Given the description of an element on the screen output the (x, y) to click on. 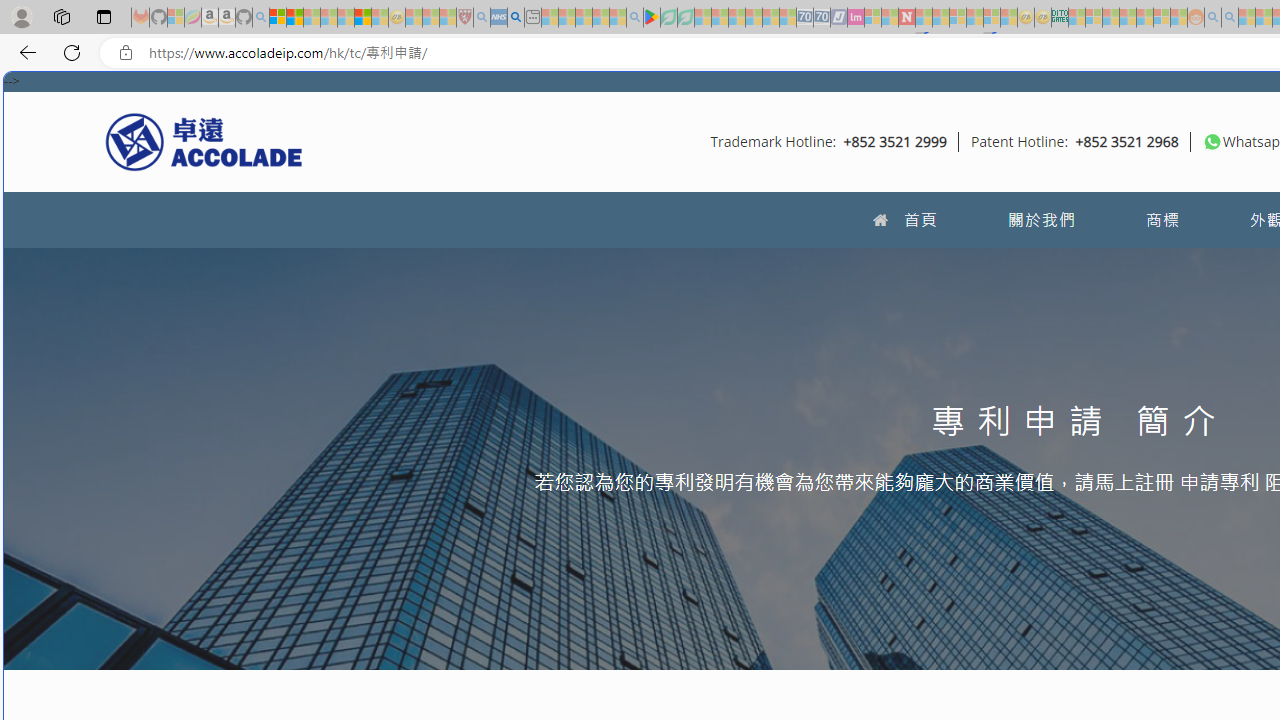
Bluey: Let's Play! - Apps on Google Play (651, 17)
